Given the description of an element on the screen output the (x, y) to click on. 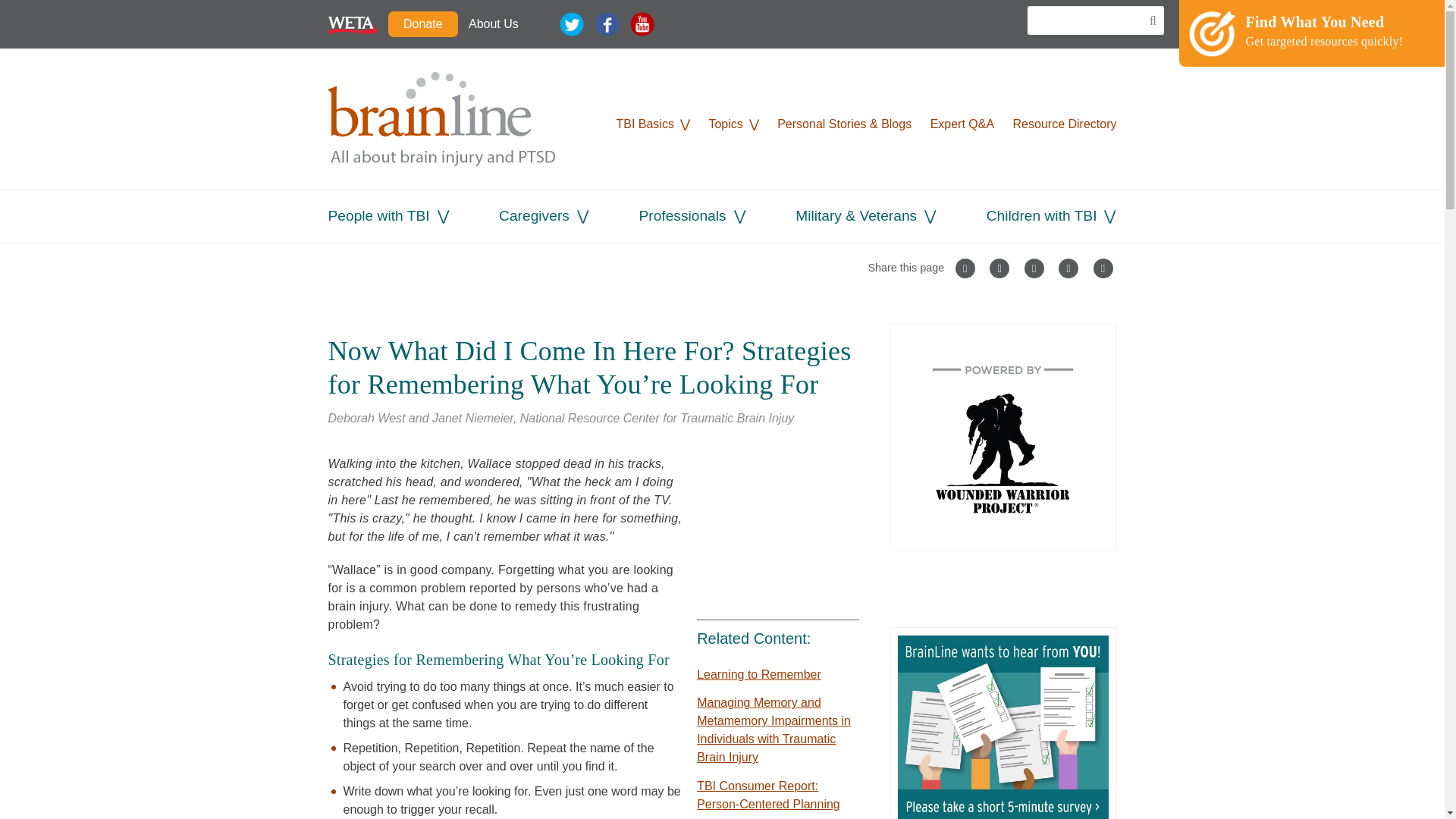
People with TBI (378, 215)
Resource Directory (1064, 123)
Topics (724, 123)
Twitter (571, 24)
Donate (423, 23)
Search (1148, 21)
WETA (352, 24)
About Us (493, 23)
Search (1148, 21)
Facebook (607, 24)
